Given the description of an element on the screen output the (x, y) to click on. 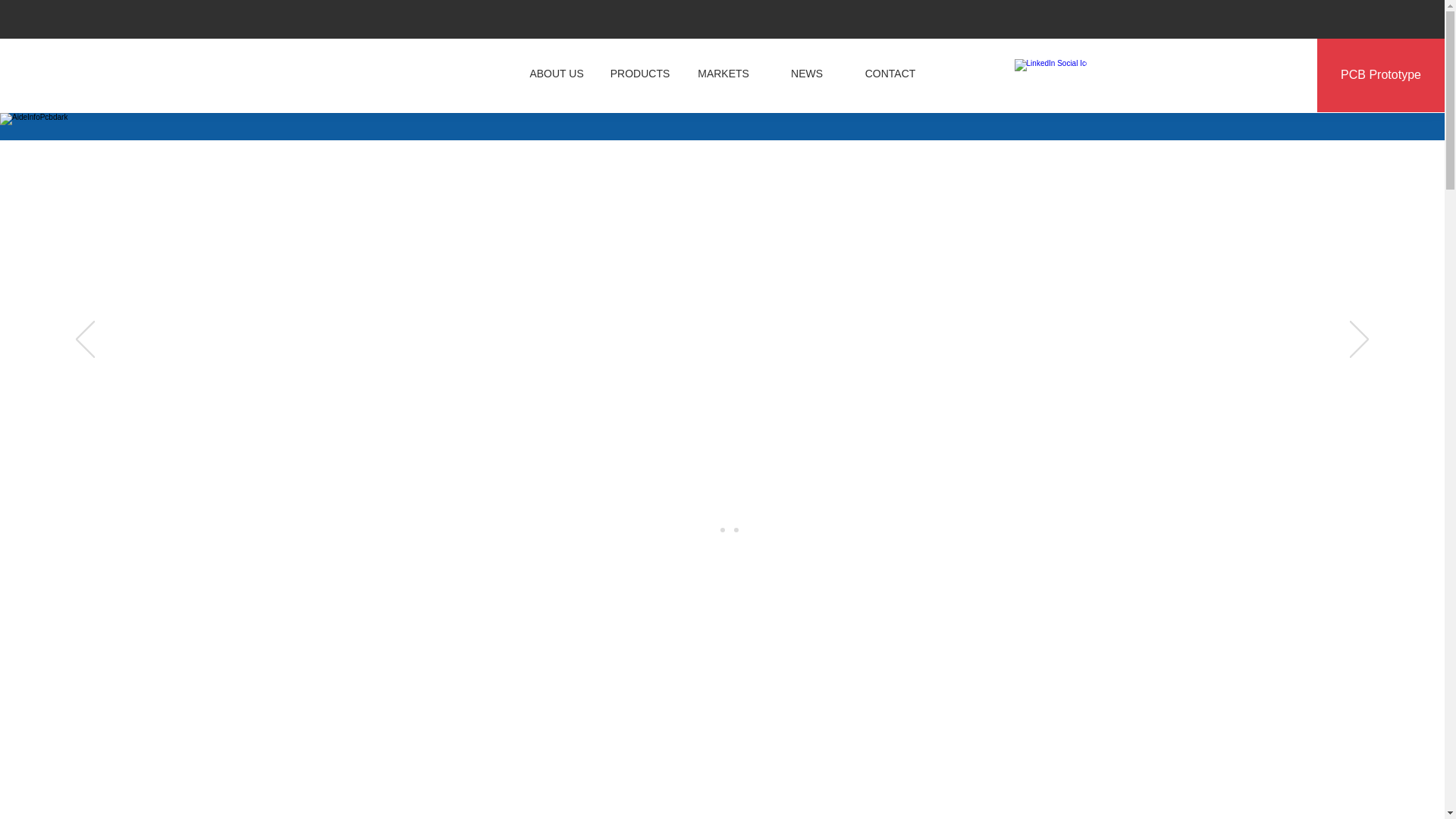
PRODUCTS (639, 73)
MARKETS (723, 73)
CONTACT (889, 73)
ABOUT US (556, 73)
NEWS (806, 73)
